Given the description of an element on the screen output the (x, y) to click on. 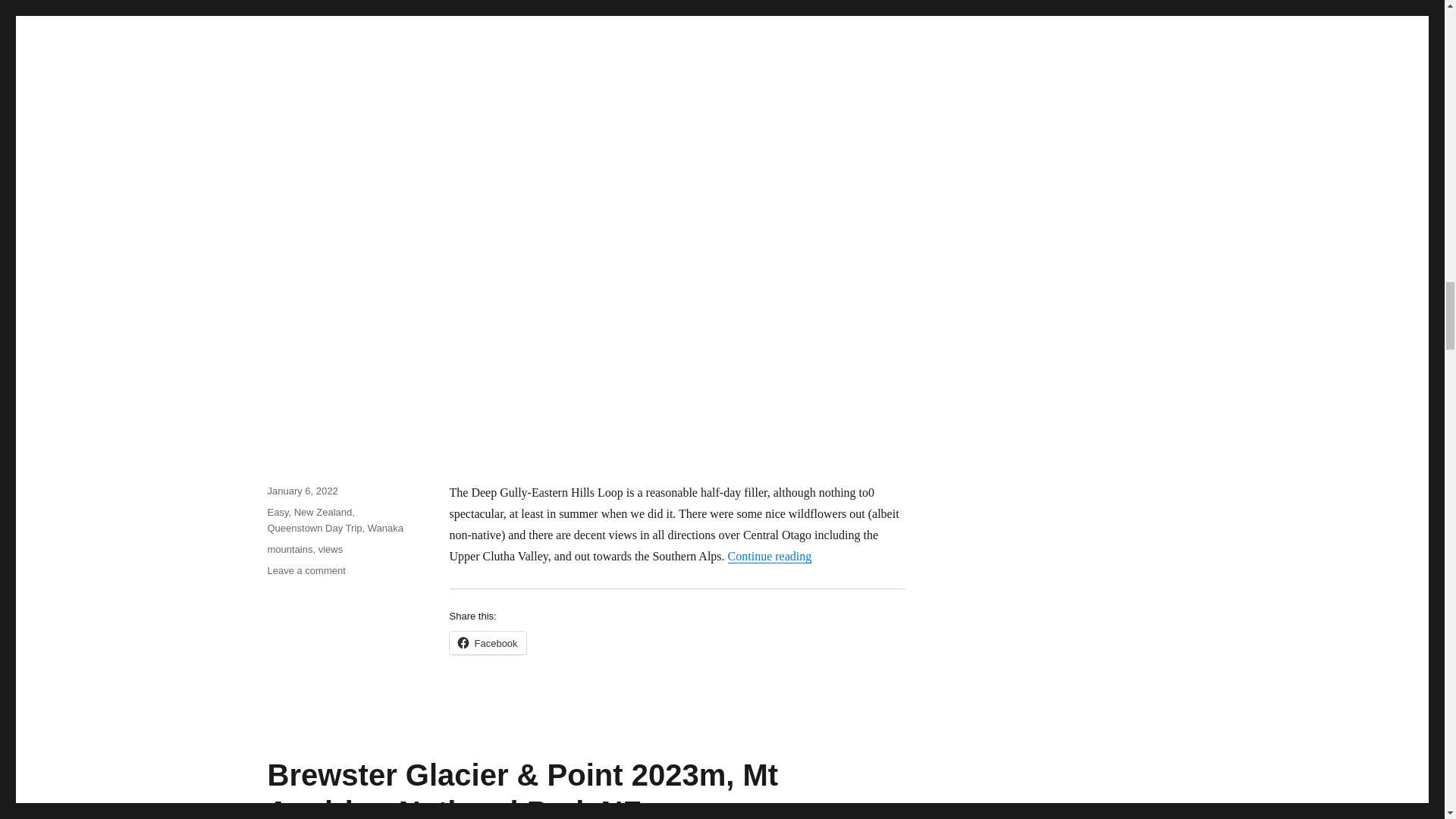
Click to share on Facebook (486, 642)
